Given the description of an element on the screen output the (x, y) to click on. 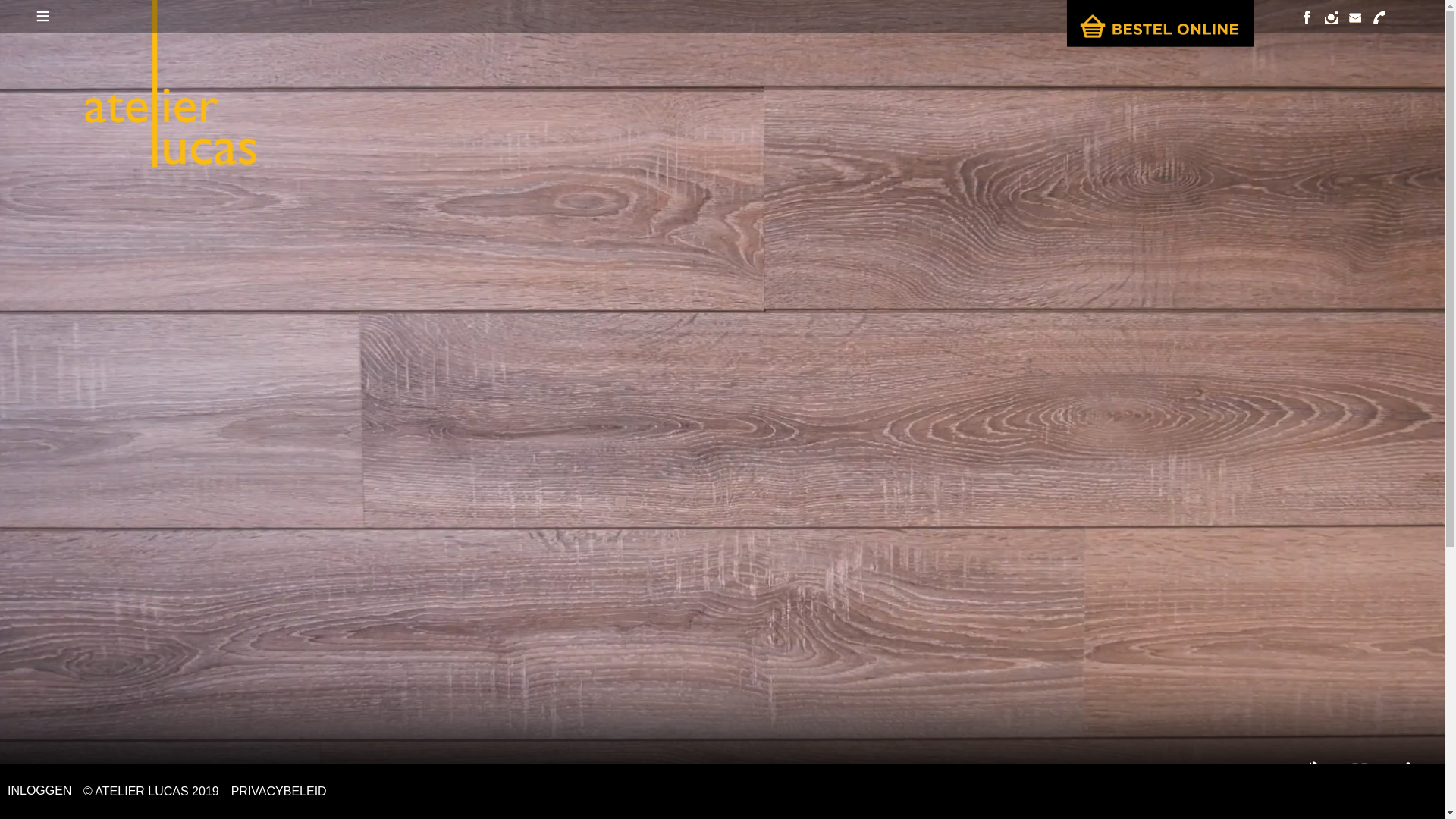
PRIVACYBELEID Element type: text (278, 791)
INLOGGEN Element type: text (39, 790)
